Given the description of an element on the screen output the (x, y) to click on. 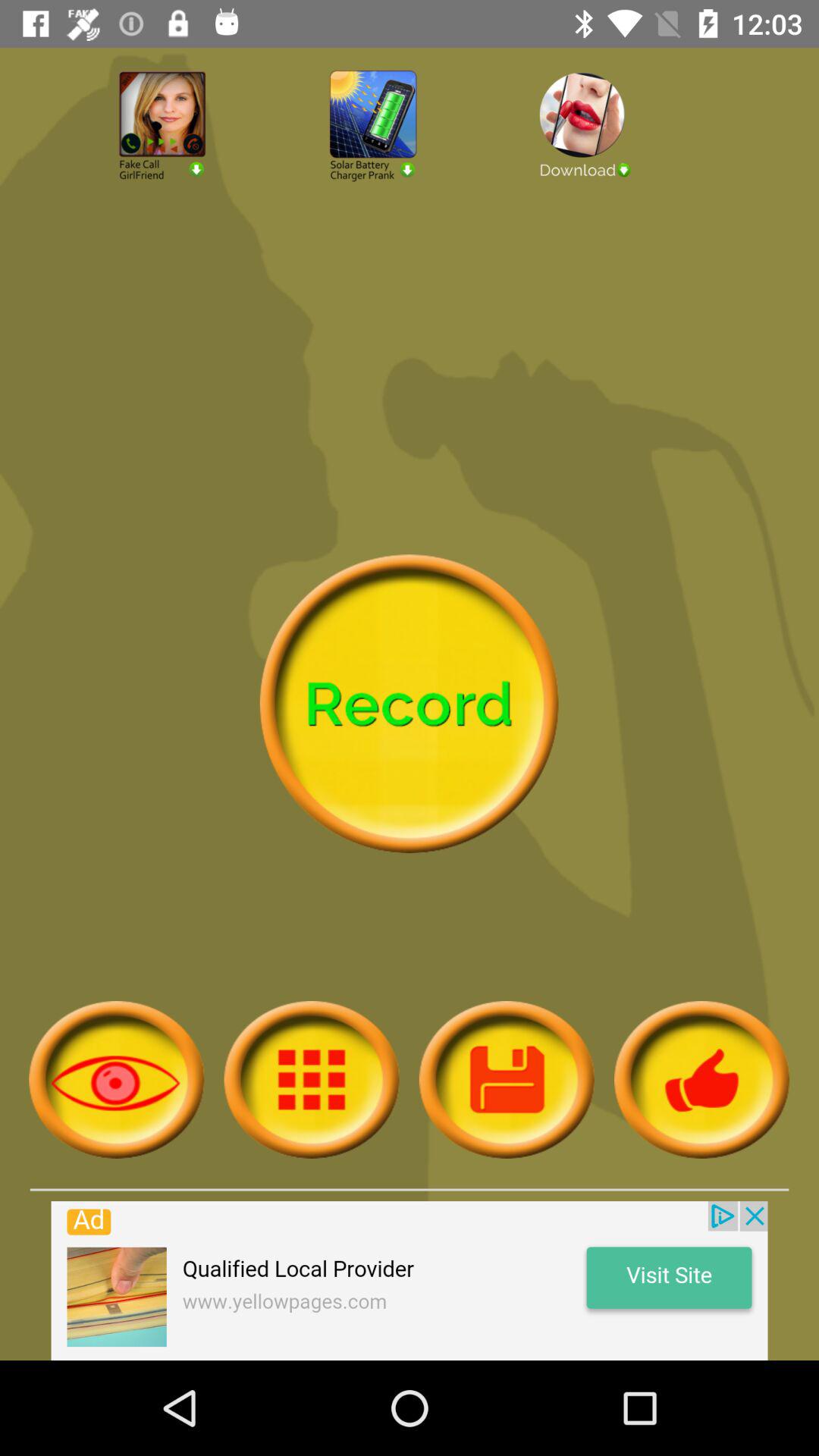
like option (701, 1079)
